Given the description of an element on the screen output the (x, y) to click on. 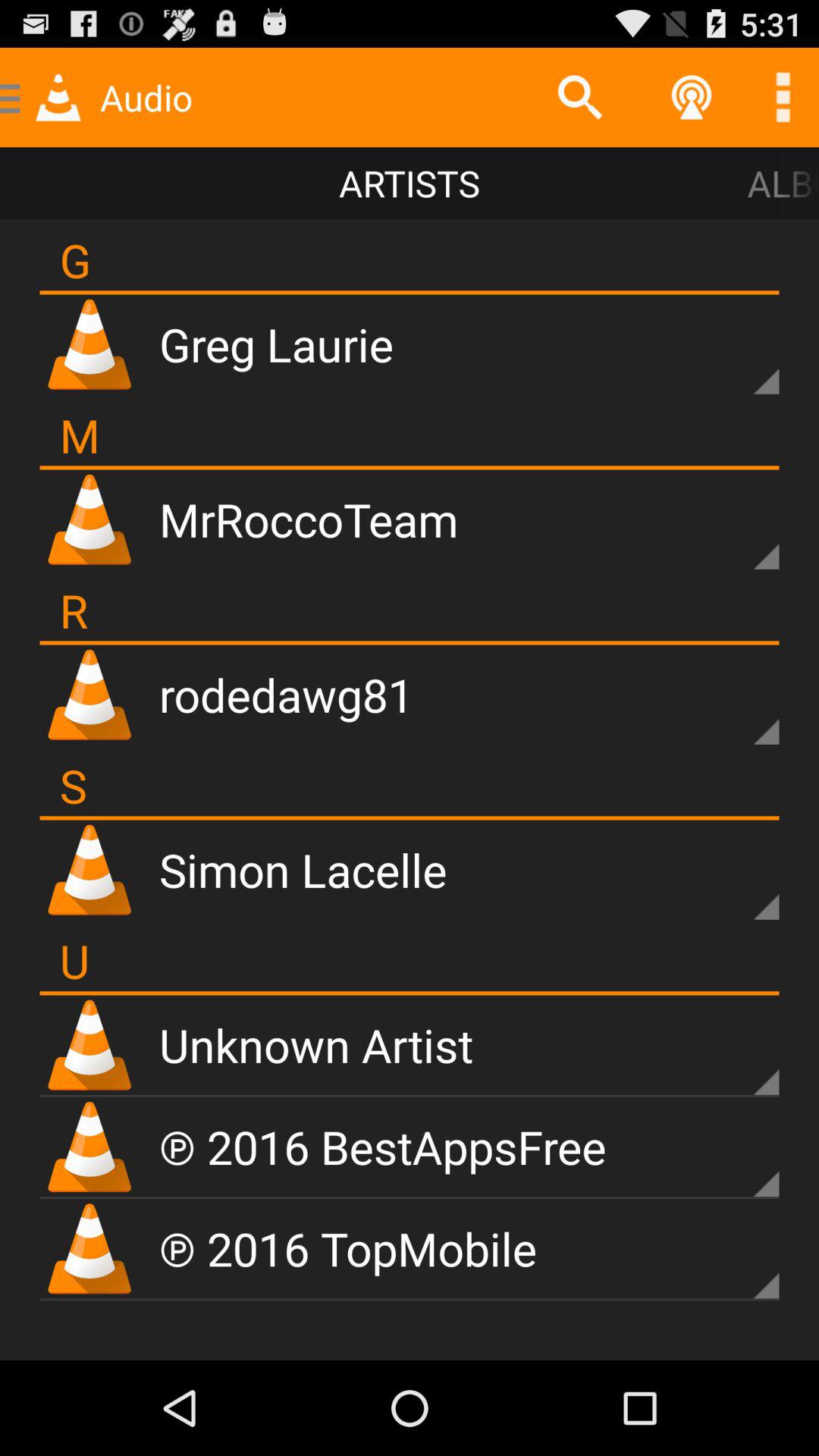
jump to unknown artist icon (316, 1044)
